Given the description of an element on the screen output the (x, y) to click on. 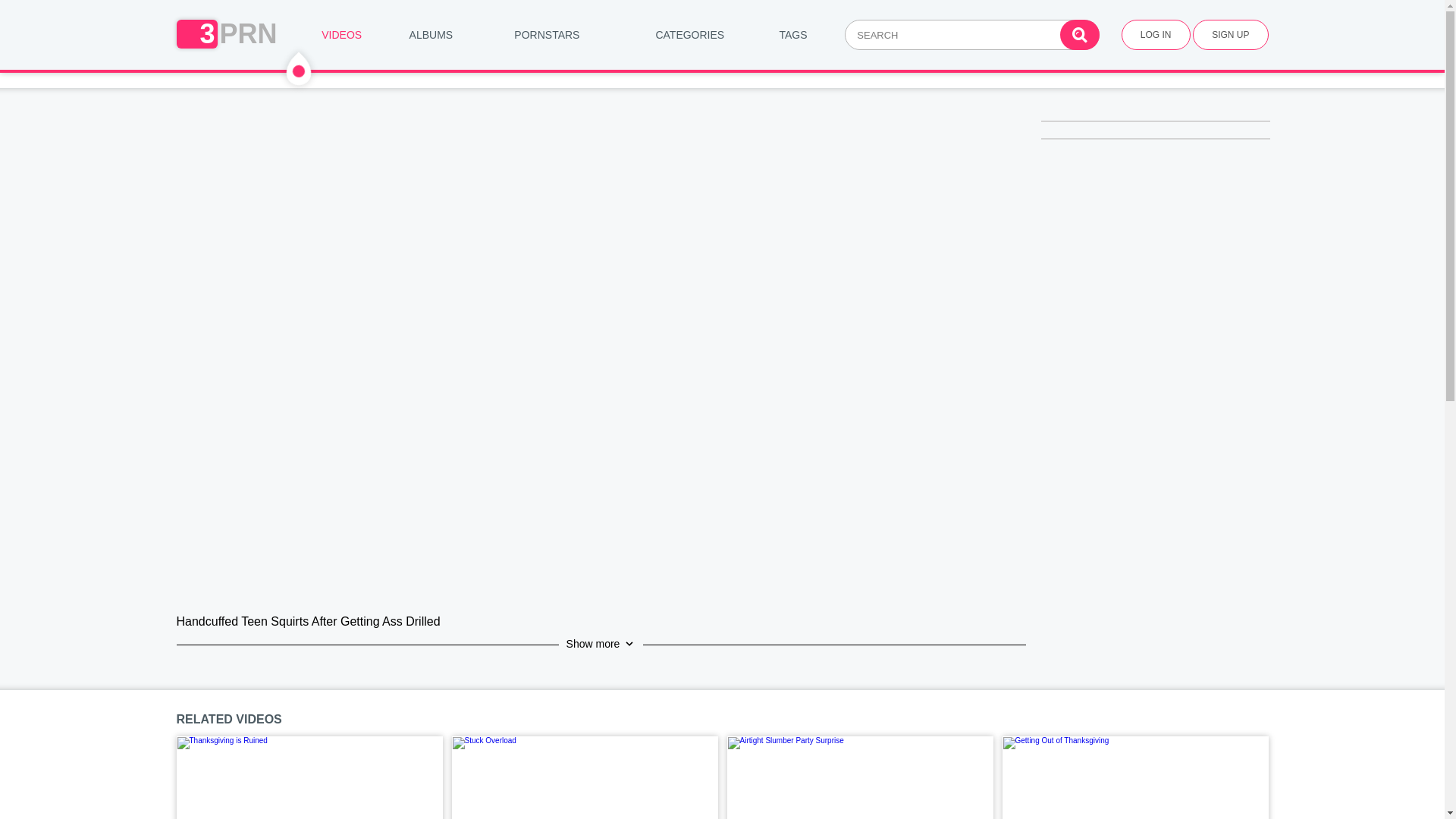
3PRN Element type: text (225, 33)
SIGN UP Element type: text (1229, 34)
VIDEOS Element type: text (341, 34)
ALBUMS Element type: text (430, 34)
CATEGORIES Element type: text (689, 34)
TAGS Element type: text (792, 34)
PORNSTARS Element type: text (546, 34)
LOG IN Element type: text (1155, 34)
